Given the description of an element on the screen output the (x, y) to click on. 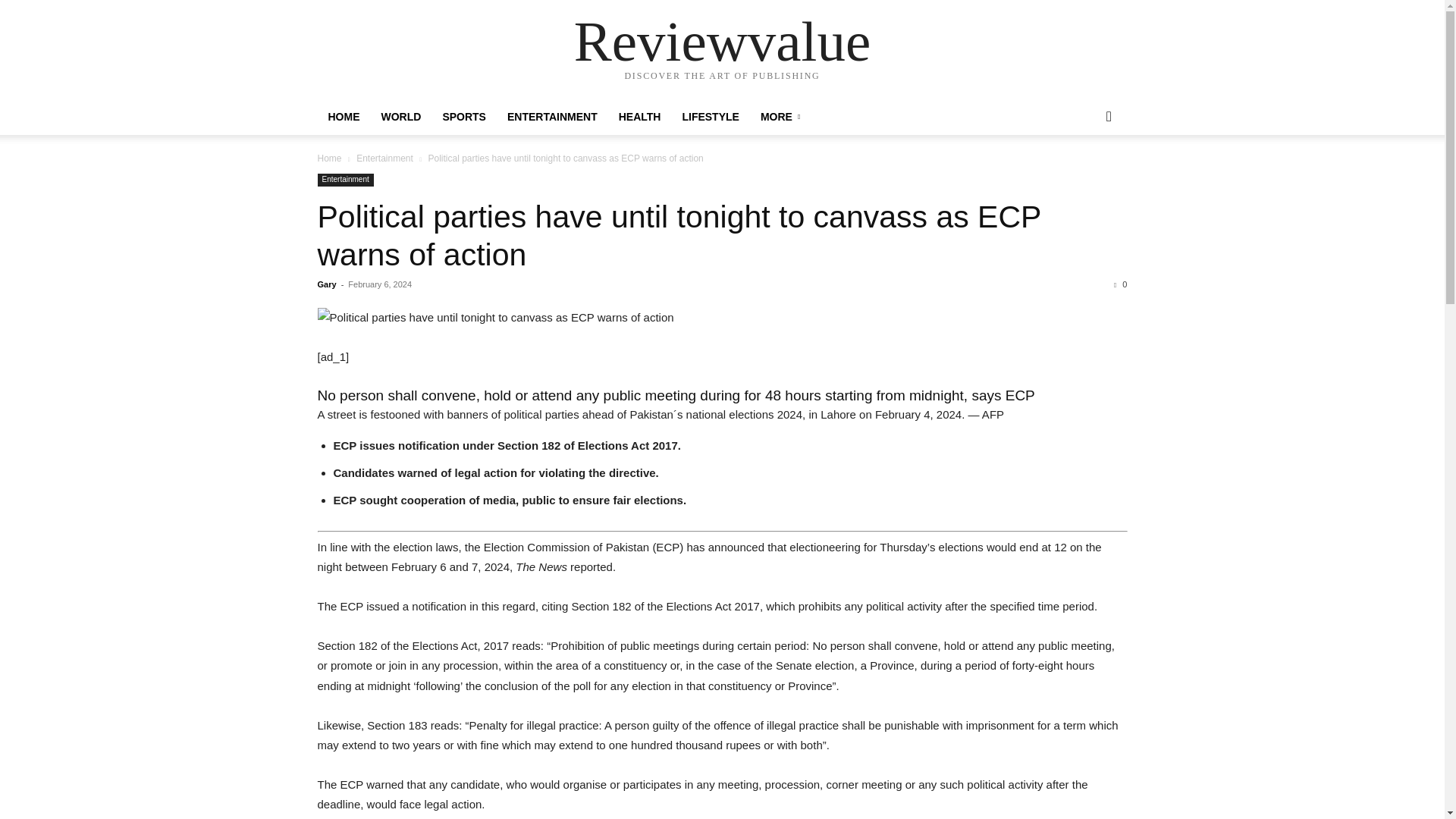
View all posts in Entertainment (384, 158)
LIFESTYLE (710, 116)
Entertainment (384, 158)
SPORTS (463, 116)
WORLD (399, 116)
Reviewvalue (721, 41)
HOME (343, 116)
Gary (326, 284)
MORE (779, 116)
Home (328, 158)
HEALTH (639, 116)
ENTERTAINMENT (552, 116)
